Given the description of an element on the screen output the (x, y) to click on. 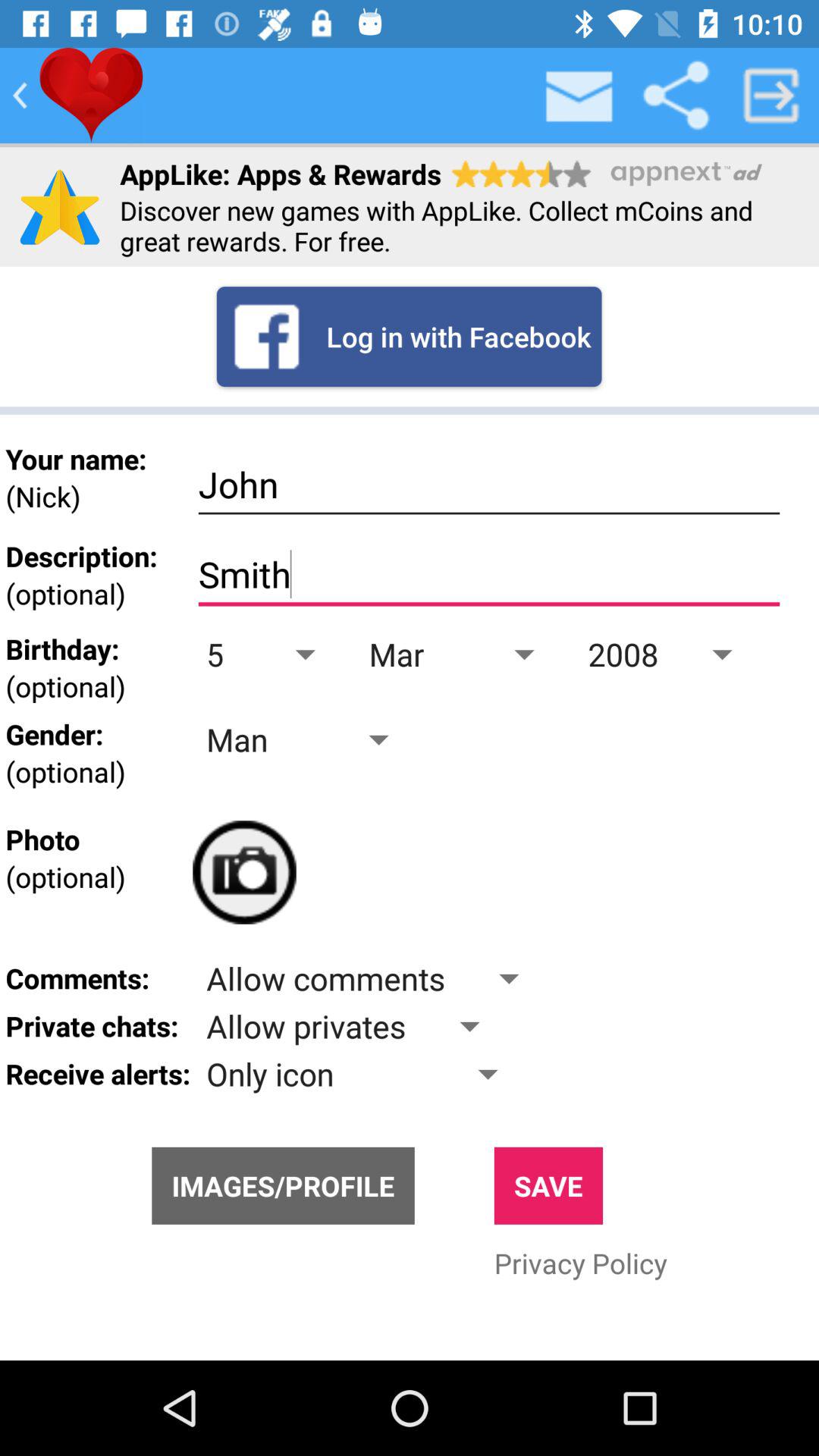
out (771, 95)
